Given the description of an element on the screen output the (x, y) to click on. 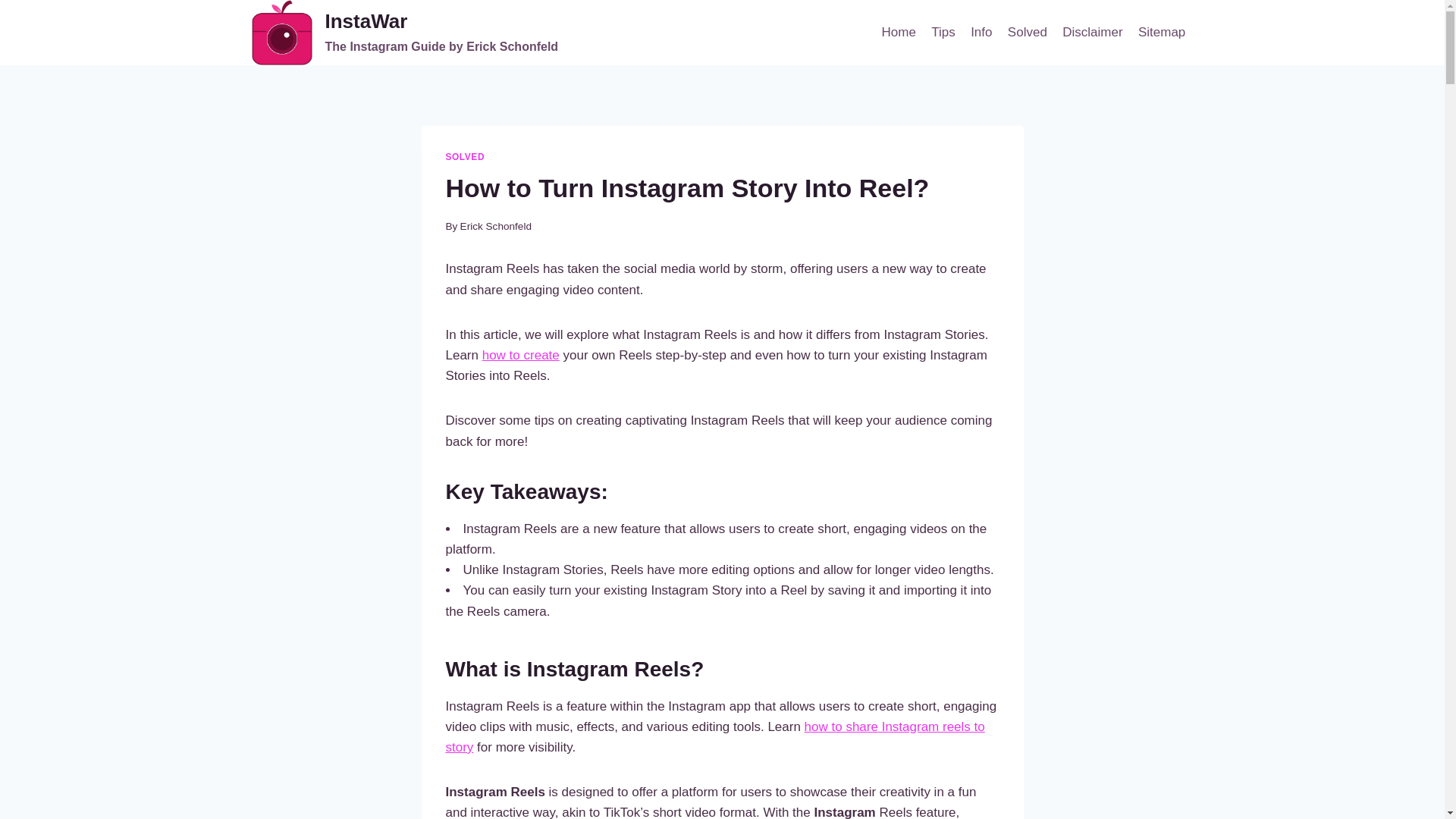
Home (898, 32)
Disclaimer (1092, 32)
Solved (1027, 32)
Sitemap (1162, 32)
Tips (942, 32)
Info (405, 32)
SOLVED (981, 32)
how to create (464, 156)
how to share Instagram reels to story (520, 355)
Erick Schonfeld (715, 736)
